Given the description of an element on the screen output the (x, y) to click on. 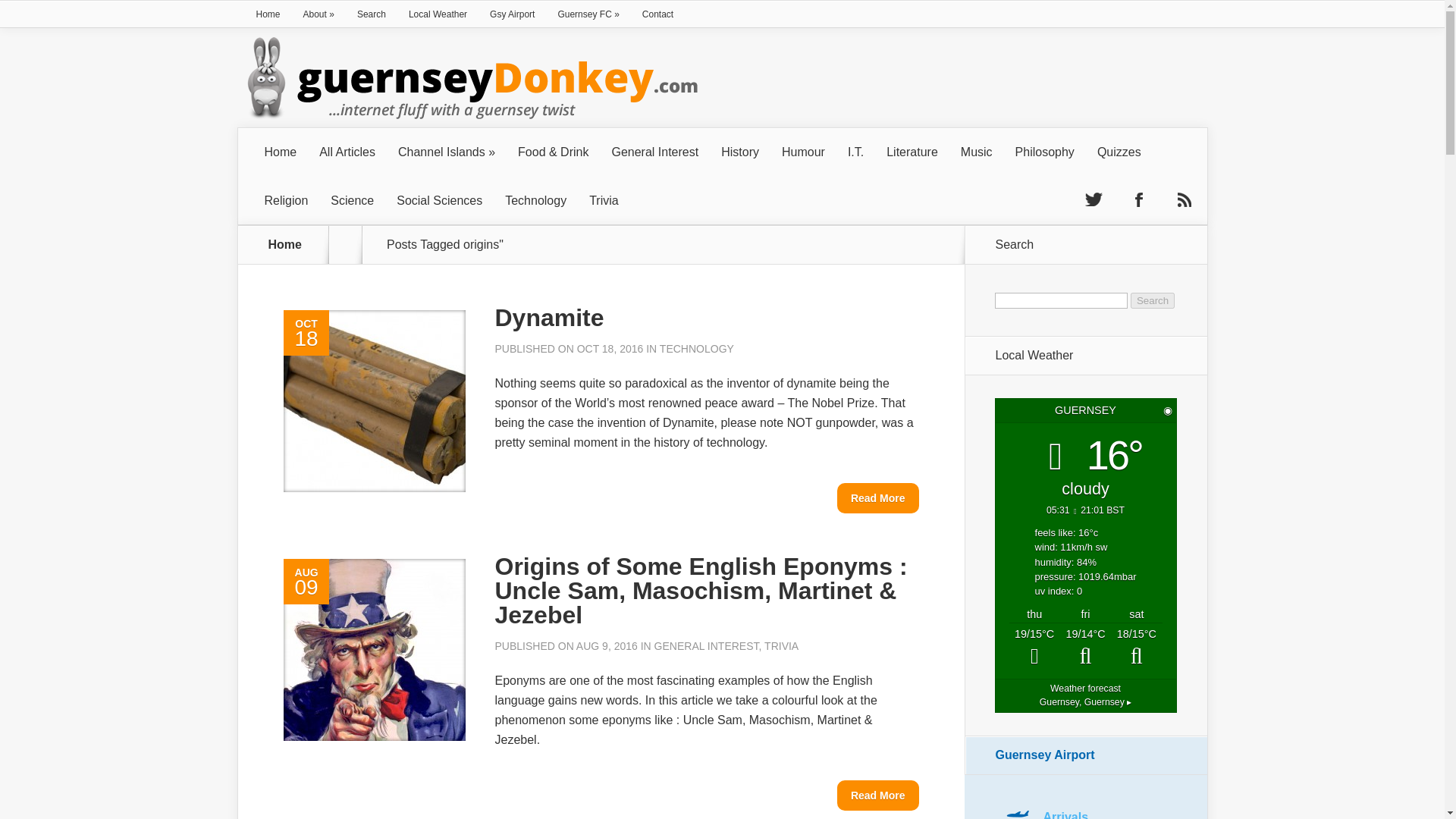
Guernsey FC (588, 13)
Light Rain (1034, 648)
Search (371, 13)
Home (267, 13)
Gsy Airport (512, 13)
Search (1152, 300)
About (319, 13)
Contact (657, 13)
Local Weather (438, 13)
Weather Atlas - Weather forecast Guernsey, Guernsey (1085, 695)
Mostly Cloudy (1084, 648)
